Given the description of an element on the screen output the (x, y) to click on. 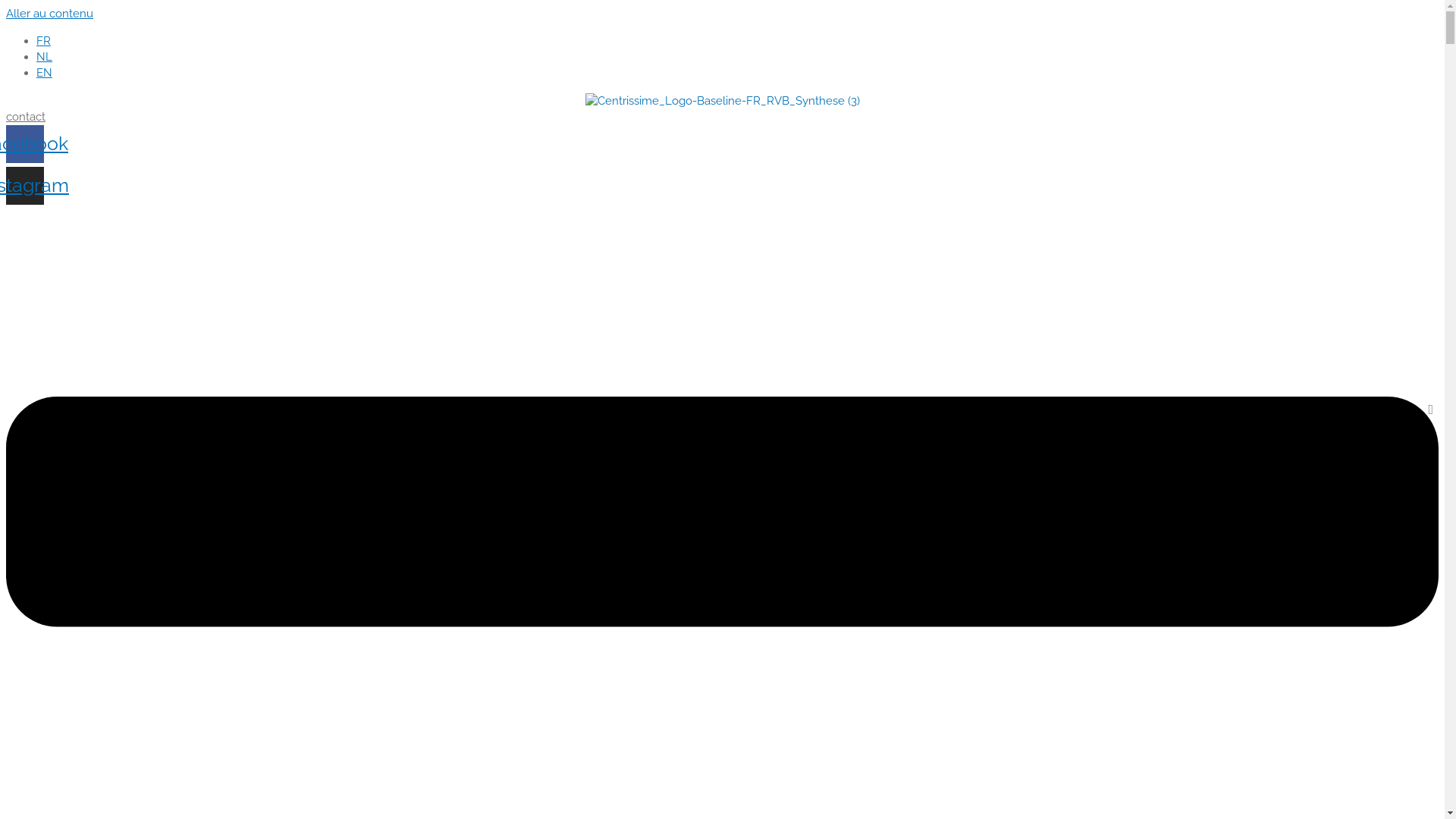
Centrissime_Logo-Baseline-FR_RVB_Synthese (3) Element type: hover (722, 101)
Instagram Element type: text (24, 185)
Aller au contenu Element type: text (49, 13)
contact Element type: text (25, 116)
EN Element type: text (44, 72)
NL Element type: text (44, 56)
Facebook Element type: text (24, 144)
FR Element type: text (43, 40)
